Given the description of an element on the screen output the (x, y) to click on. 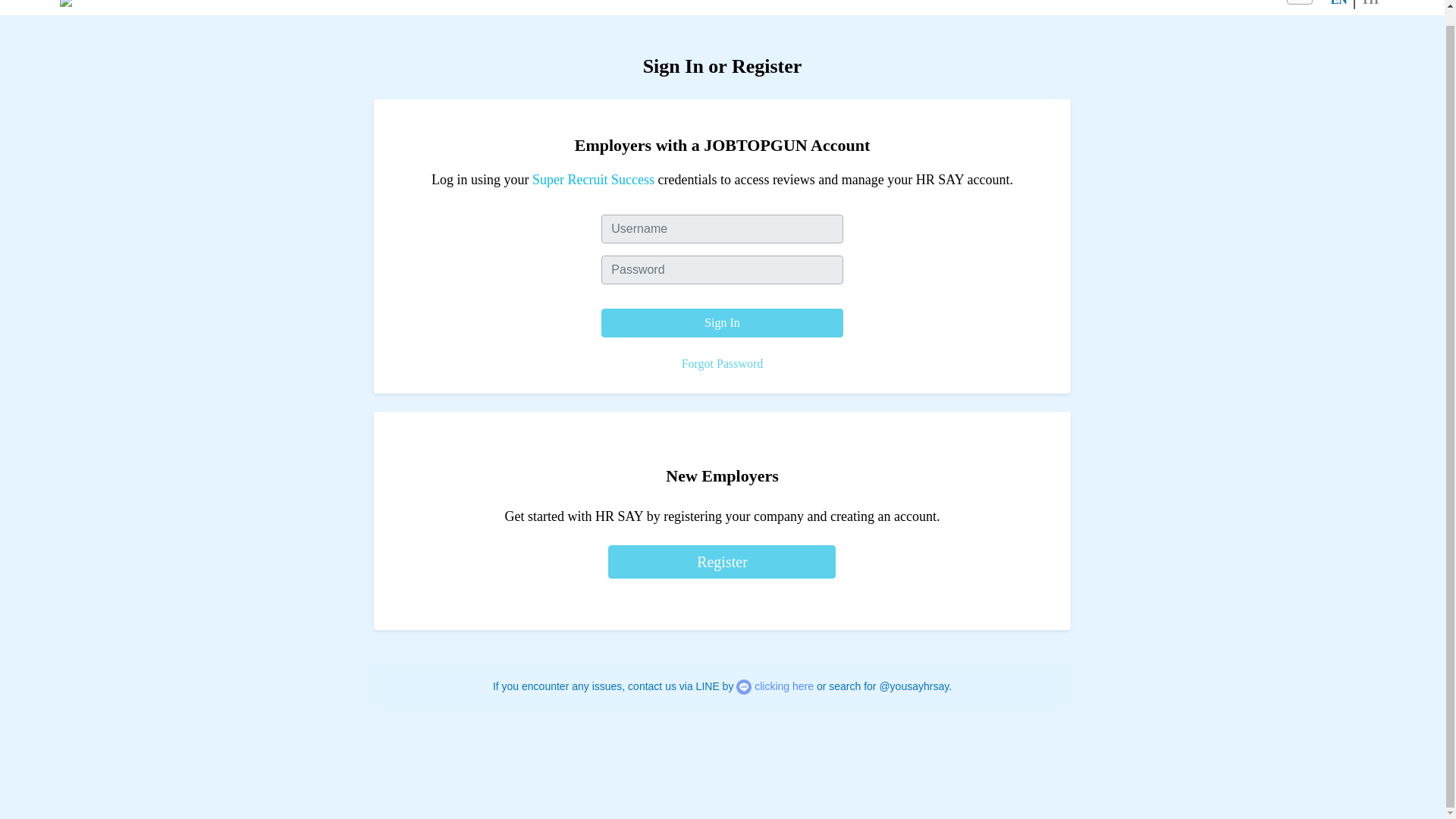
Forgot Password (721, 363)
TH (1369, 2)
clicking here (783, 686)
Sign In (722, 322)
Forgot Password (722, 363)
EN (1339, 2)
Register (721, 561)
